Given the description of an element on the screen output the (x, y) to click on. 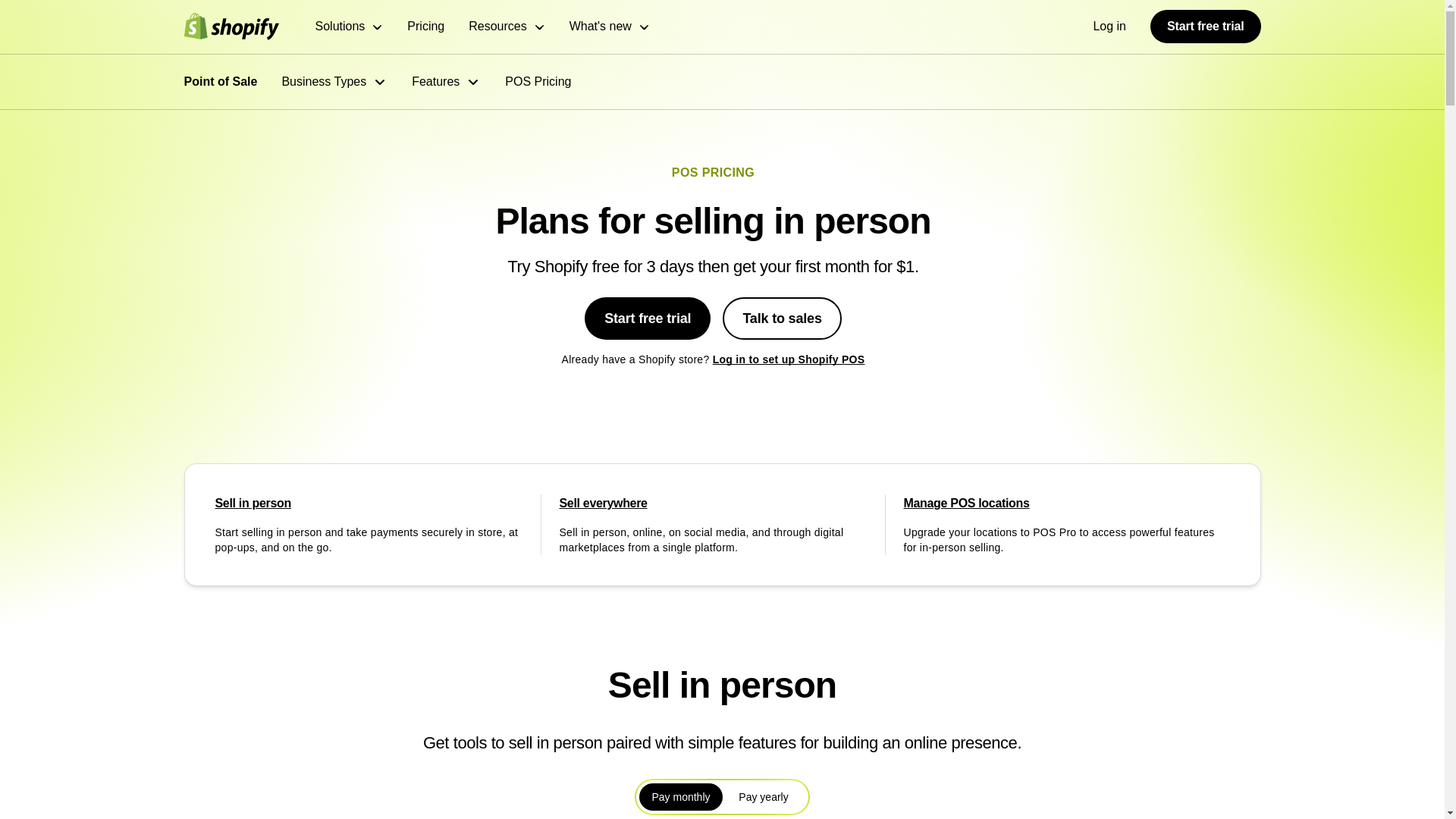
Resources (506, 27)
Solutions (349, 27)
